Given the description of an element on the screen output the (x, y) to click on. 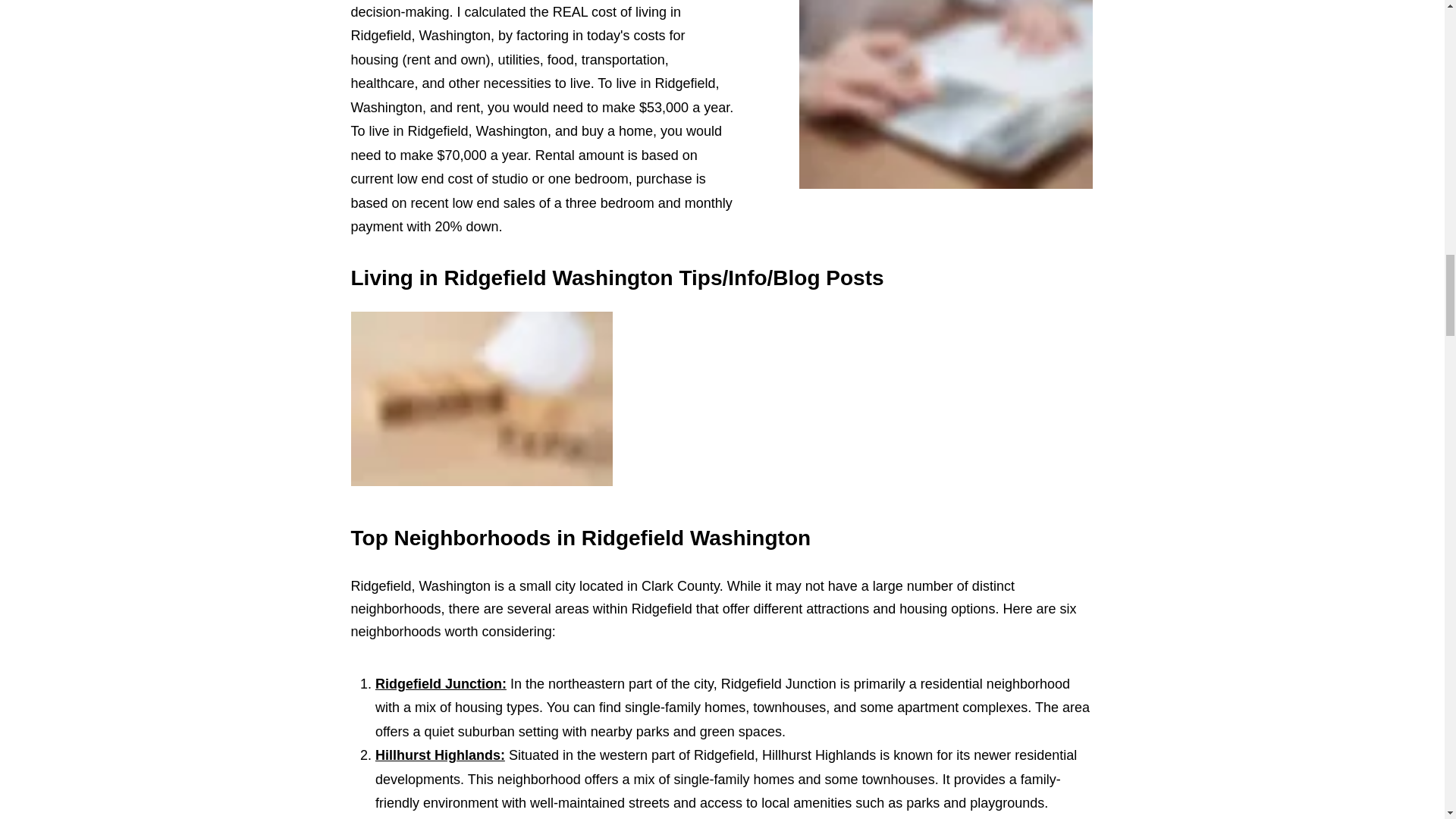
Living in Oregon - Helpful Tips (480, 399)
